Given the description of an element on the screen output the (x, y) to click on. 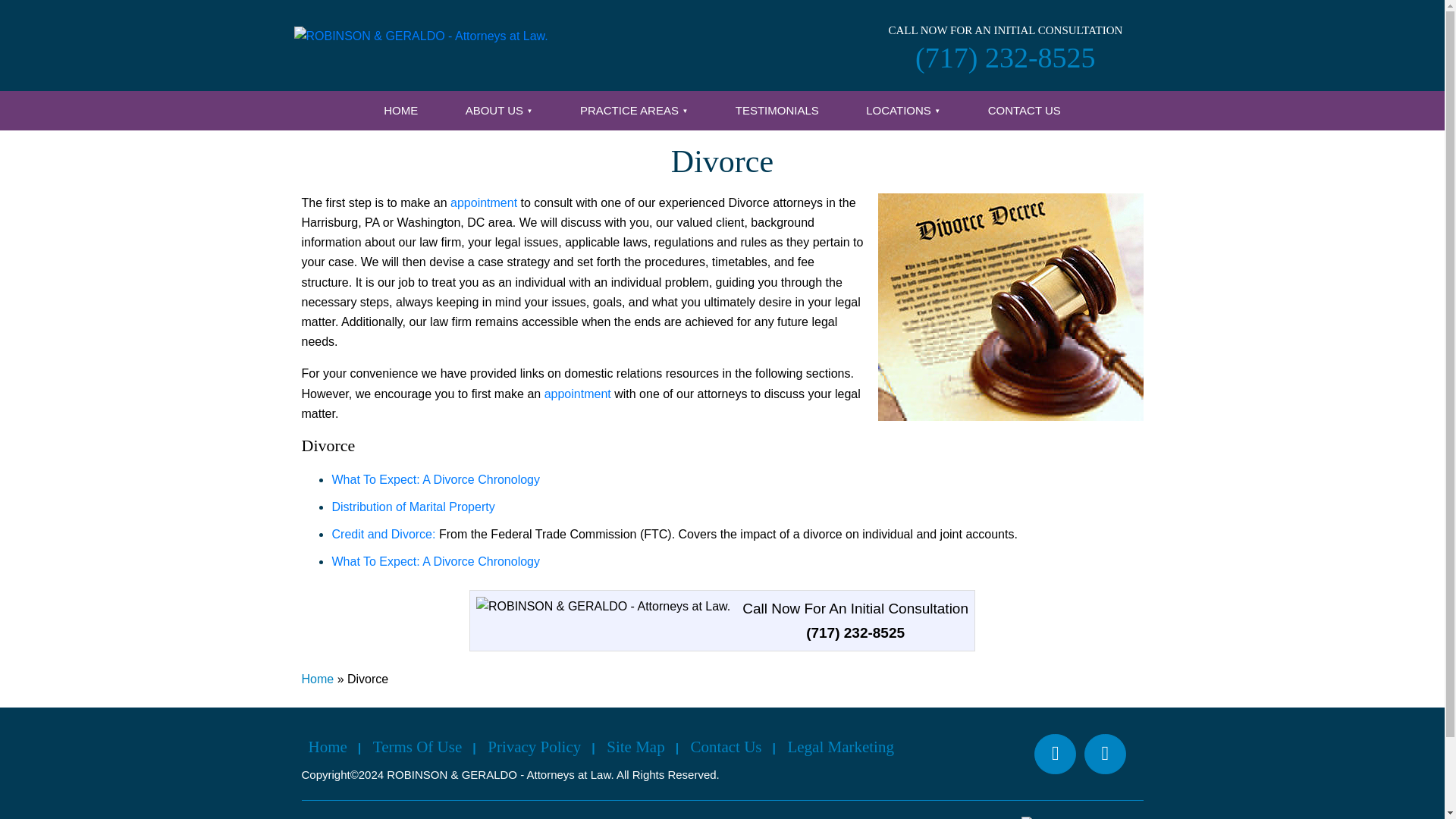
ABOUT US (499, 110)
LOCATIONS (903, 110)
HOME (400, 110)
TESTIMONIALS (777, 110)
CONTACT US (1024, 110)
PRACTICE AREAS (633, 110)
